Given the description of an element on the screen output the (x, y) to click on. 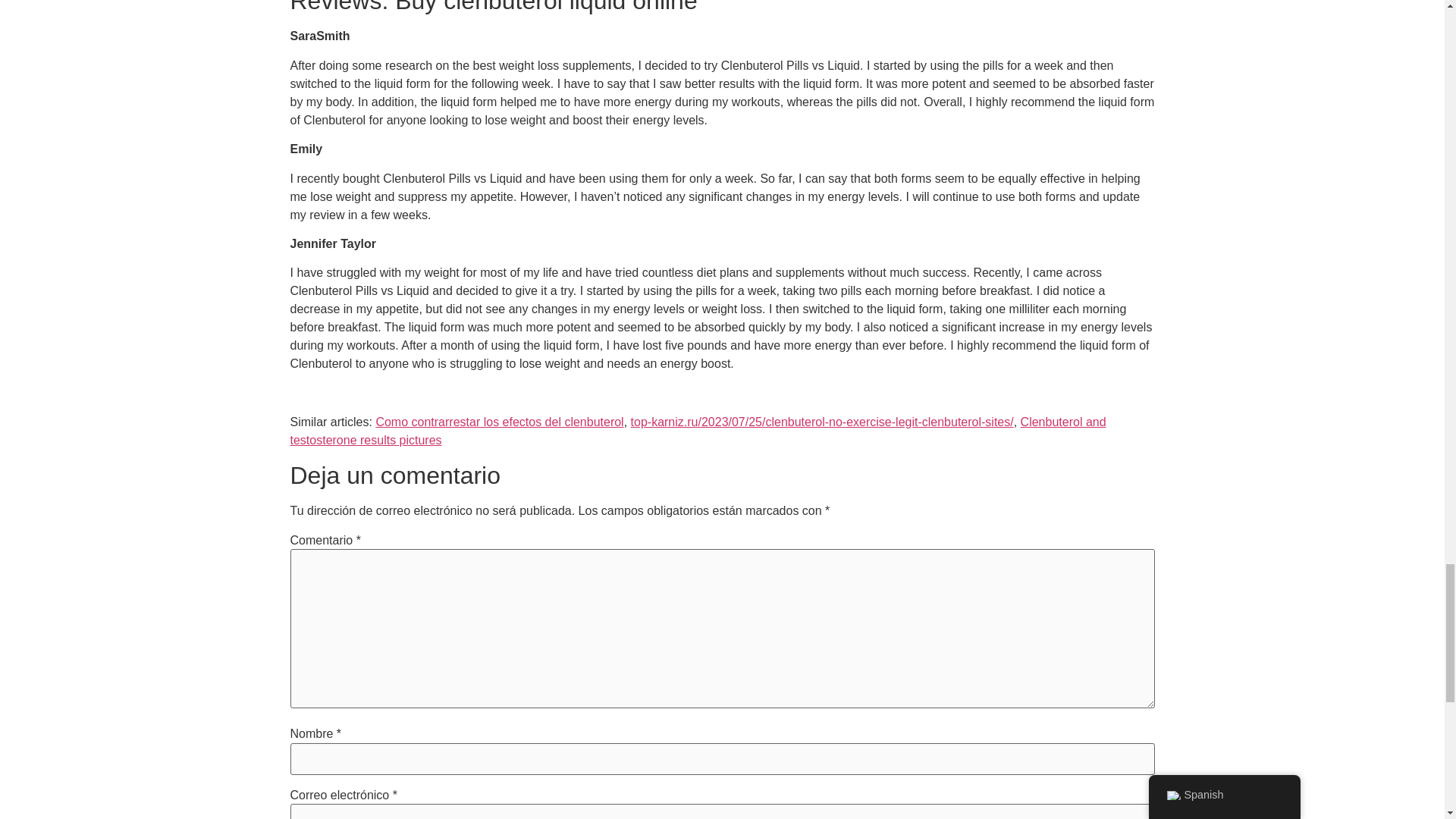
Como contrarrestar los efectos del clenbuterol (499, 421)
Clenbuterol and testosterone results pictures (697, 430)
